Given the description of an element on the screen output the (x, y) to click on. 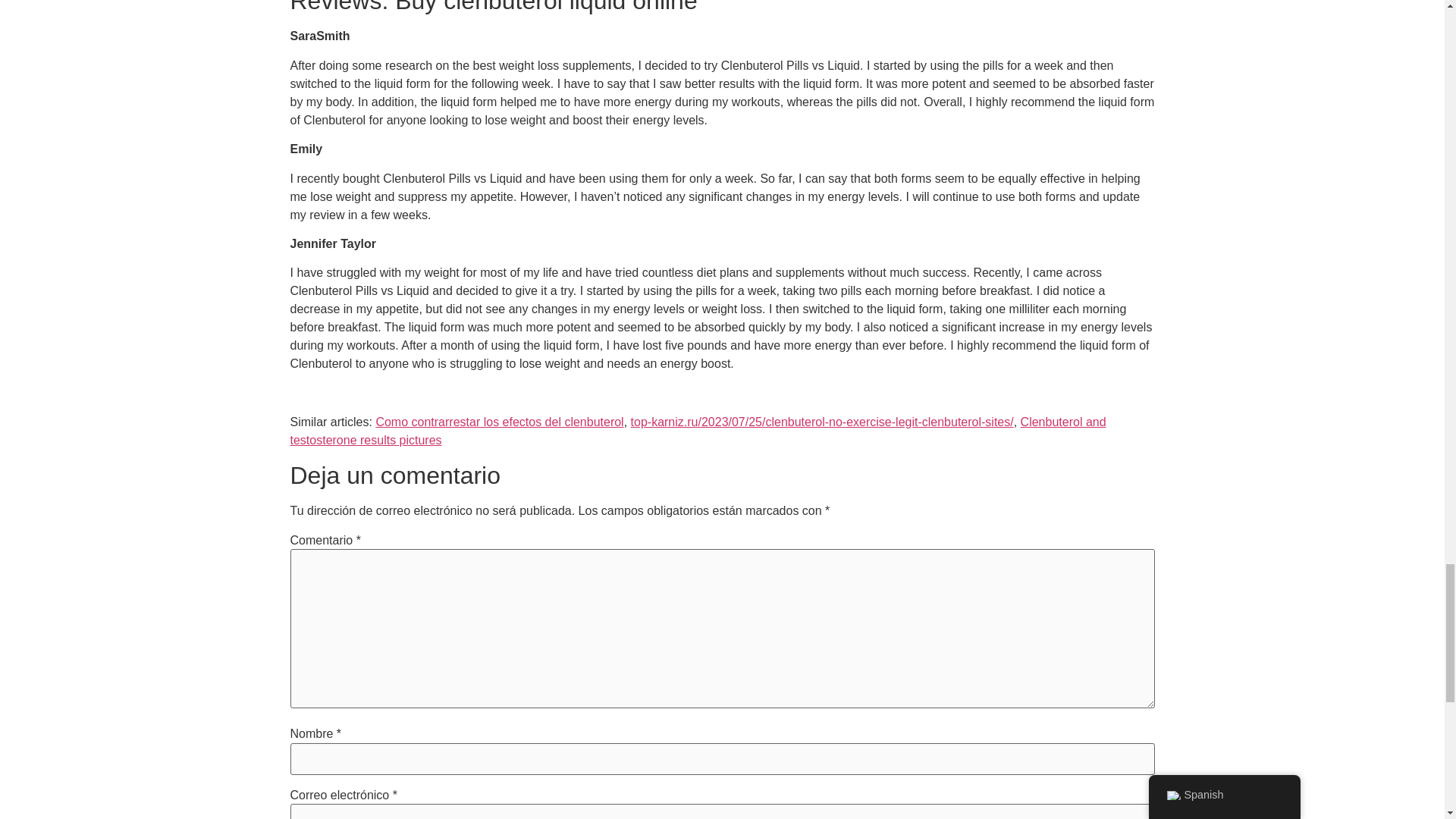
Como contrarrestar los efectos del clenbuterol (499, 421)
Clenbuterol and testosterone results pictures (697, 430)
